Given the description of an element on the screen output the (x, y) to click on. 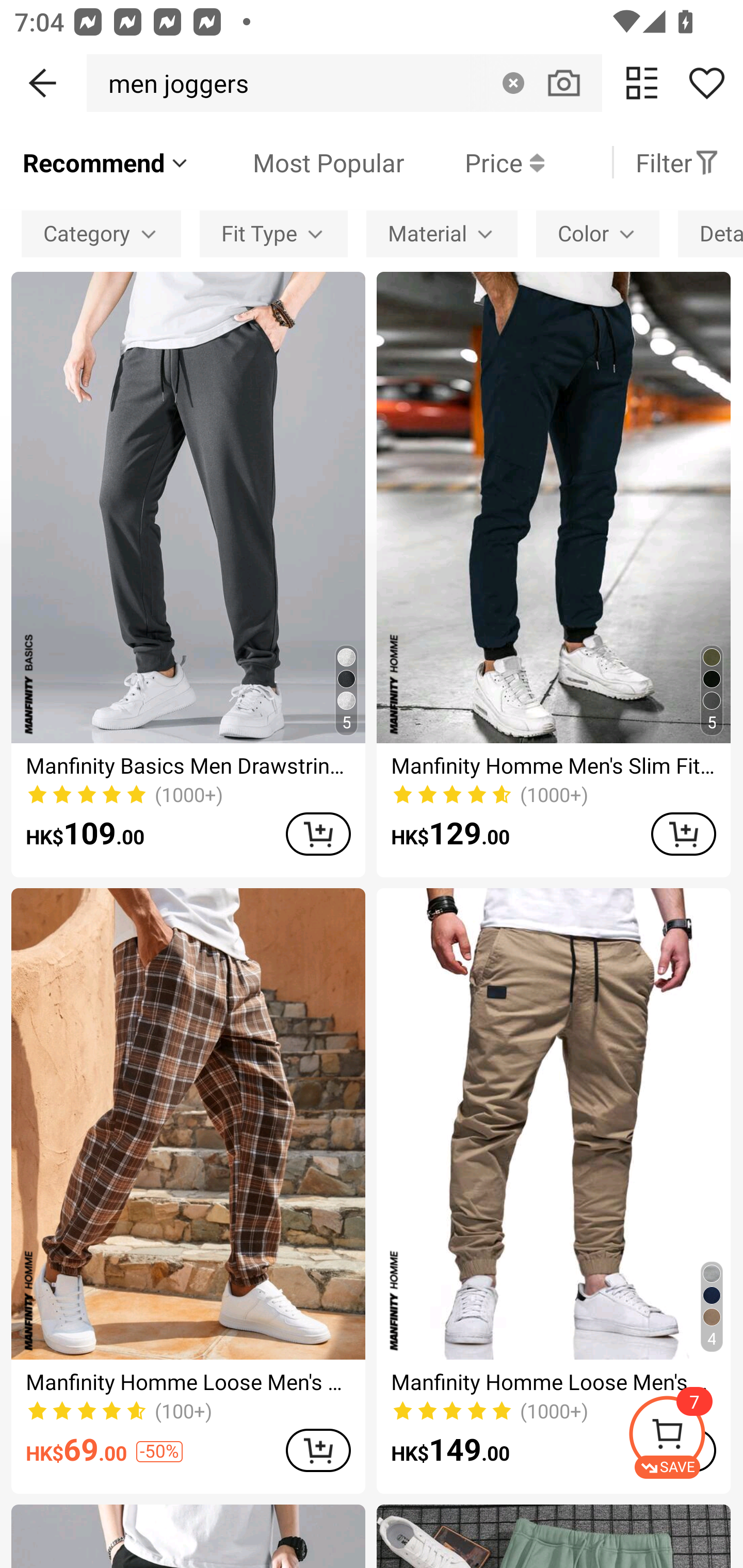
men joggers Clear (343, 82)
men joggers (172, 82)
Clear (513, 82)
change view (641, 82)
Share (706, 82)
Recommend (106, 162)
Most Popular (297, 162)
Price (474, 162)
Filter (677, 162)
Category (101, 233)
Fit Type (273, 233)
Material (441, 233)
Color (597, 233)
ADD TO CART (318, 834)
ADD TO CART (683, 834)
SAVE (685, 1436)
ADD TO CART (318, 1450)
